Given the description of an element on the screen output the (x, y) to click on. 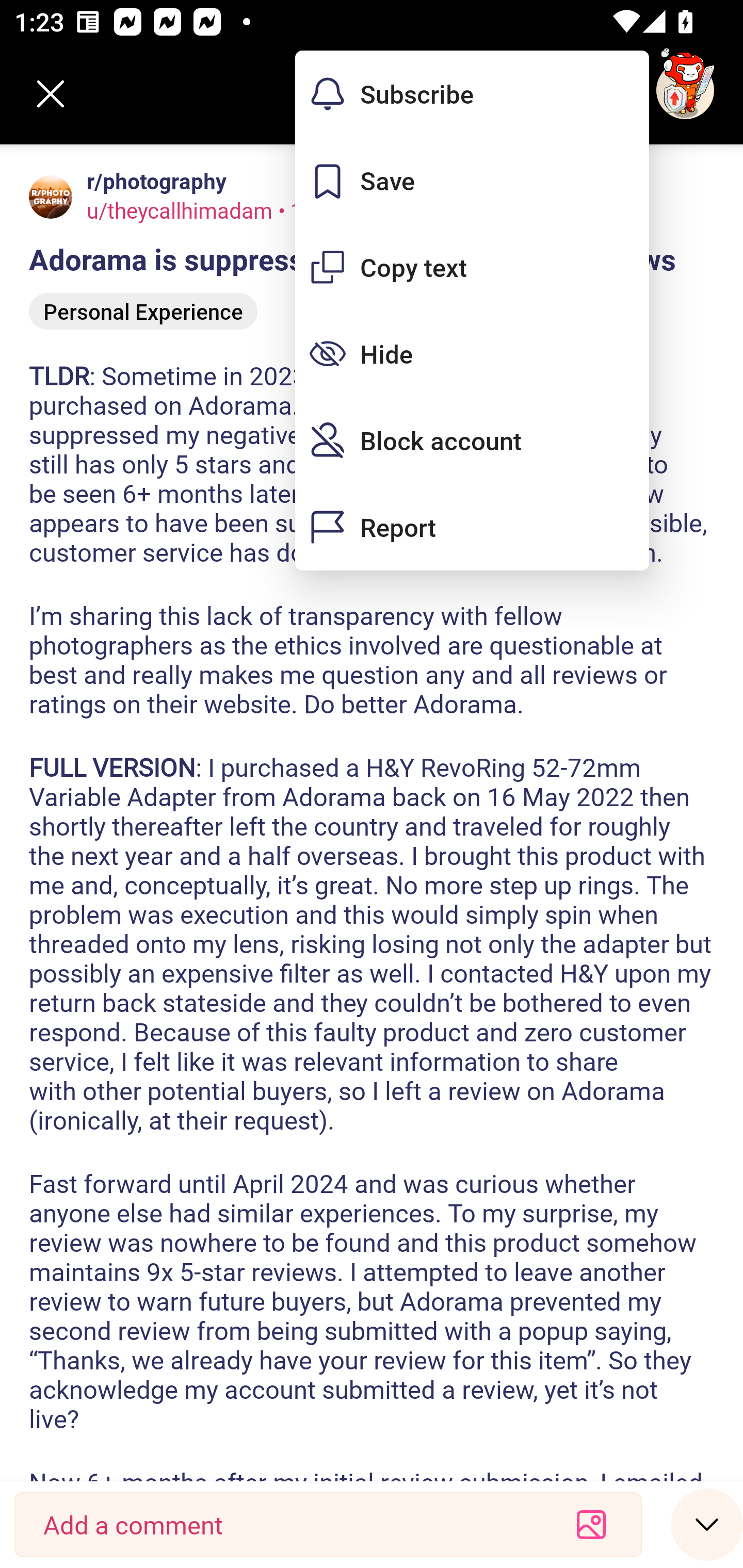
Subscribe (471, 93)
Save (471, 180)
Copy text (471, 267)
Hide (471, 353)
Block account (471, 440)
Report (471, 527)
